Given the description of an element on the screen output the (x, y) to click on. 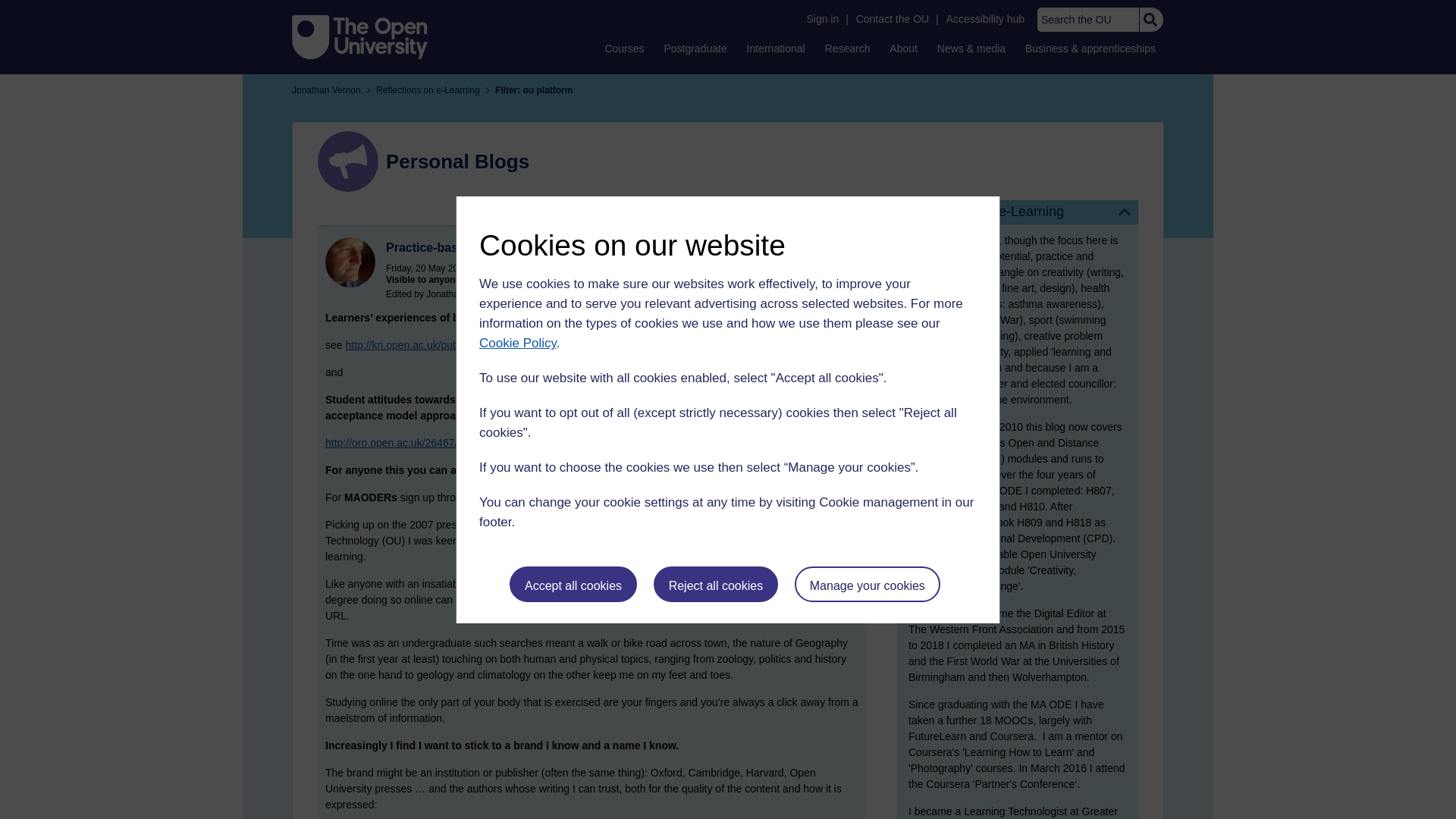
Cookie Policy (517, 342)
Contact the OU (892, 19)
Search (1149, 19)
Postgraduate (695, 48)
The Open University (360, 36)
International (775, 48)
About (903, 48)
Manage your cookies (867, 583)
Reject all cookies (715, 583)
Reflections on e-Learning (1017, 211)
